Given the description of an element on the screen output the (x, y) to click on. 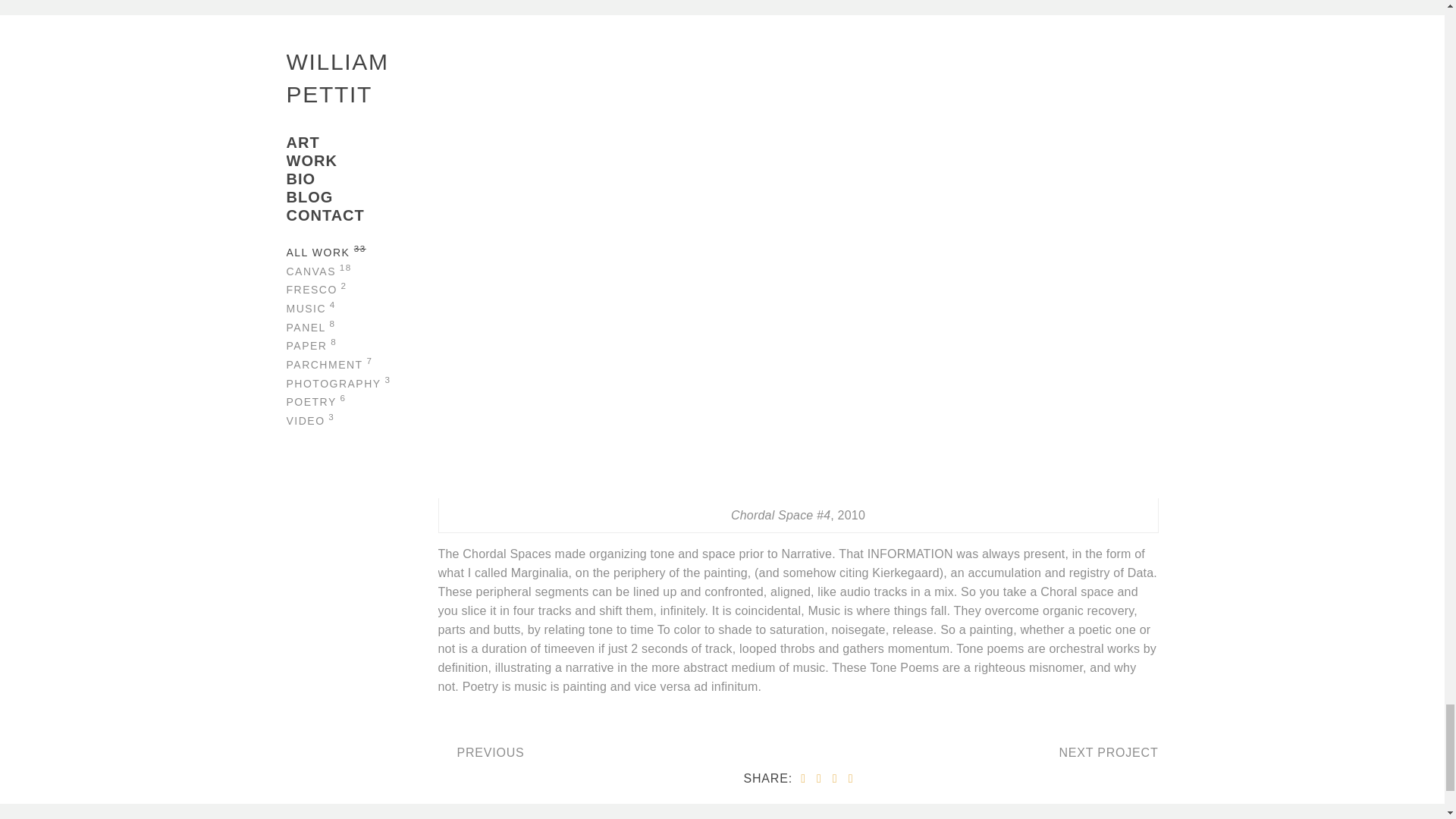
PREVIOUS PROJECT (490, 752)
NEXT PROJECT (1104, 752)
Stragedies (1104, 752)
